Given the description of an element on the screen output the (x, y) to click on. 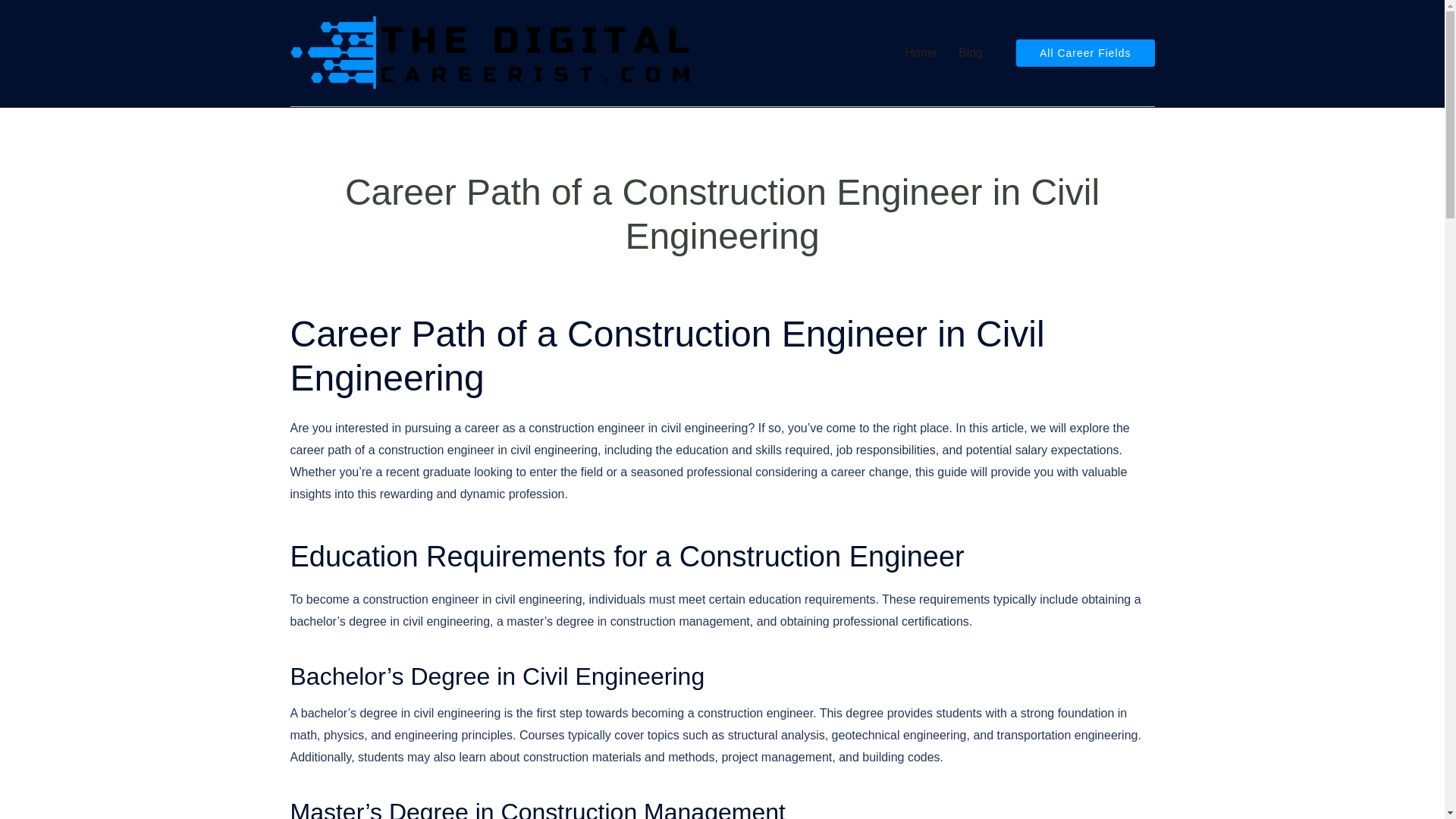
Blog (970, 53)
Home (920, 53)
All Career Fields (1085, 52)
TheDigitalCareerist.com (490, 51)
